Given the description of an element on the screen output the (x, y) to click on. 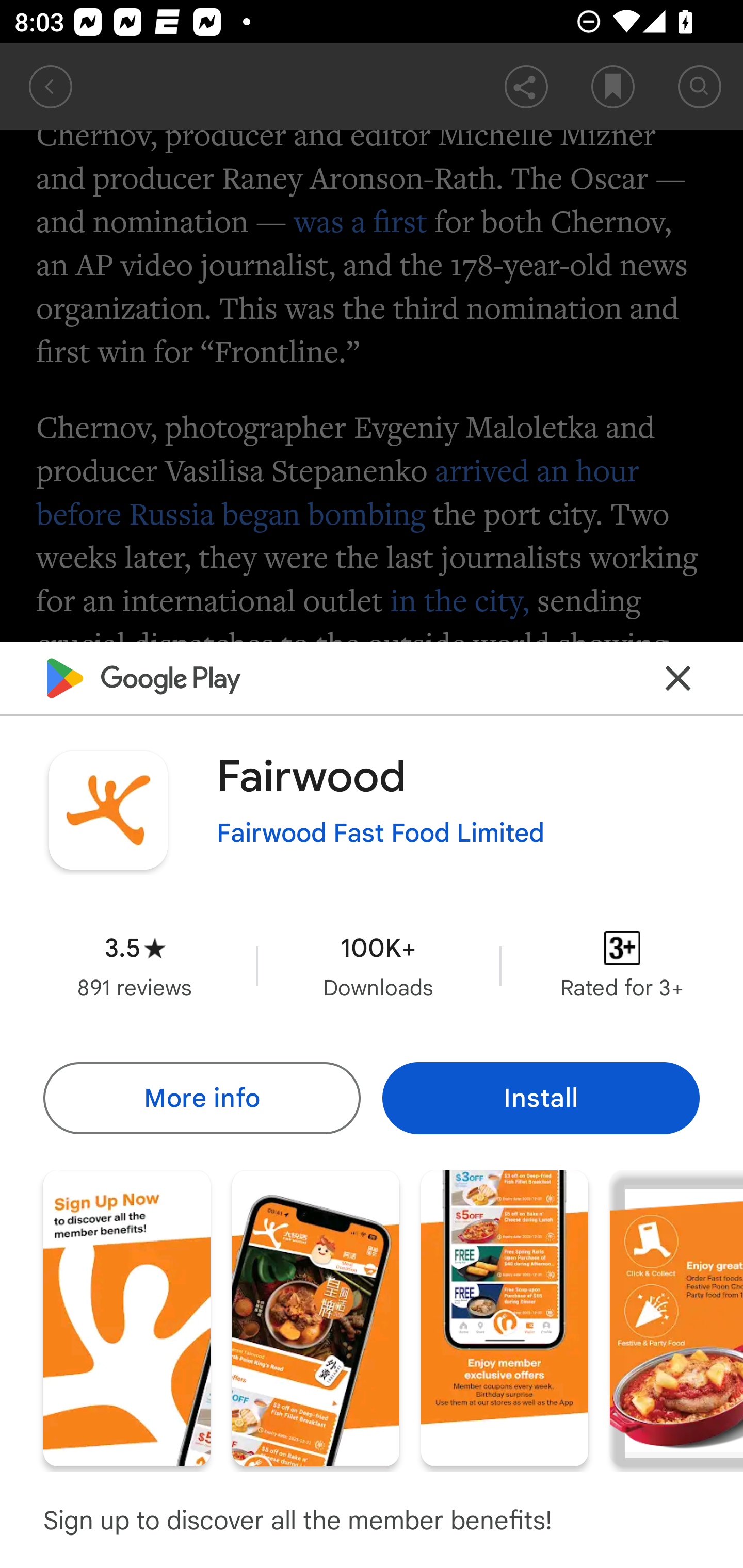
Close (677, 678)
Image of app or game icon for Fairwood (108, 809)
Fairwood Fast Food Limited (380, 832)
More info (201, 1097)
Install (540, 1097)
Screenshot "1" of "5" (126, 1317)
Screenshot "2" of "5" (315, 1317)
Screenshot "3" of "5" (504, 1317)
Screenshot "4" of "5" (676, 1317)
